Given the description of an element on the screen output the (x, y) to click on. 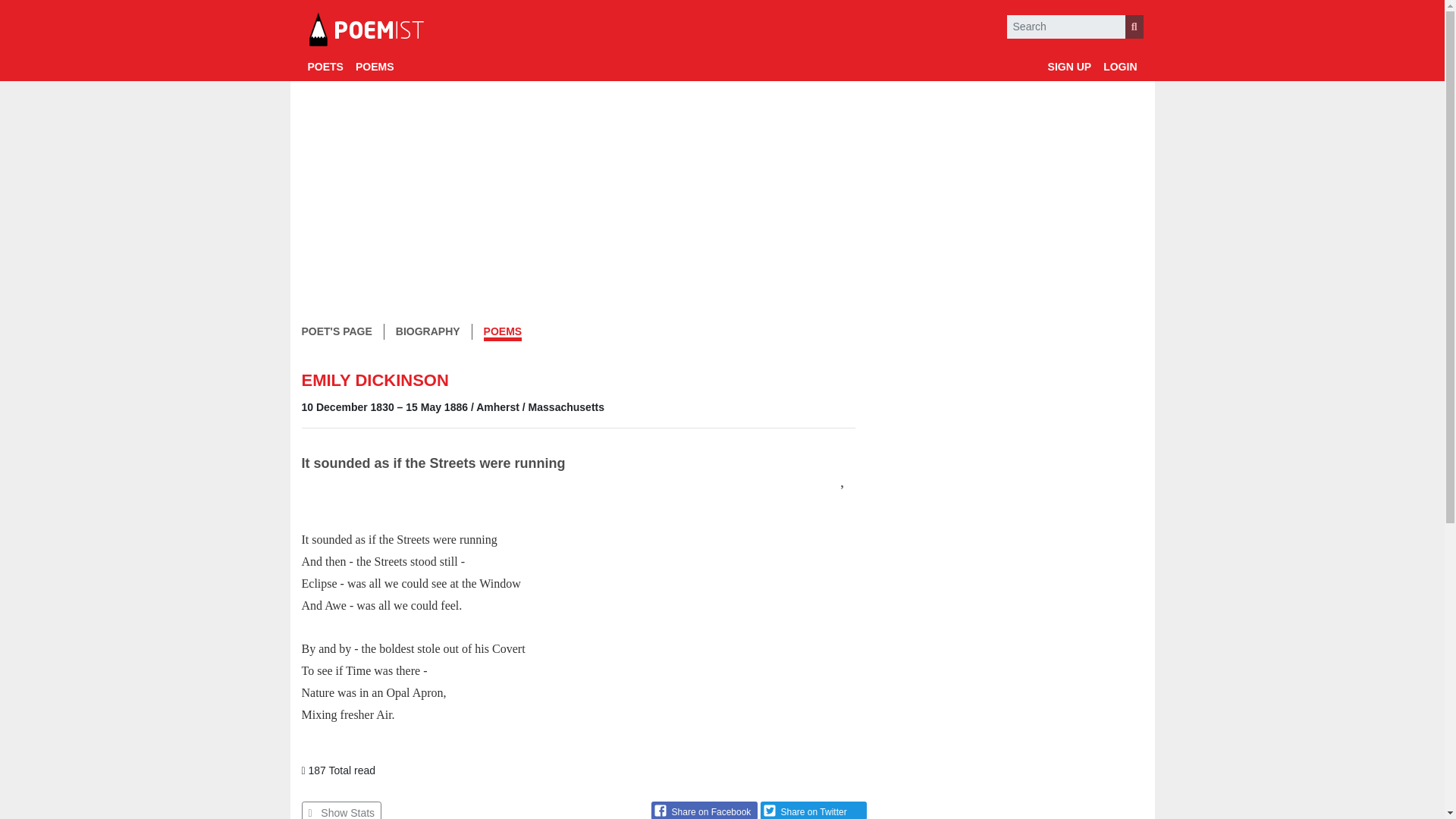
  Show Stats (341, 810)
POET'S PAGE (336, 331)
POEMS (502, 333)
Login (1119, 67)
LOGIN (1119, 67)
Share on Twitter (813, 810)
POEMS (374, 67)
BIOGRAPHY (428, 331)
Poems of Emily Dickinson (502, 333)
Poems (374, 67)
